Given the description of an element on the screen output the (x, y) to click on. 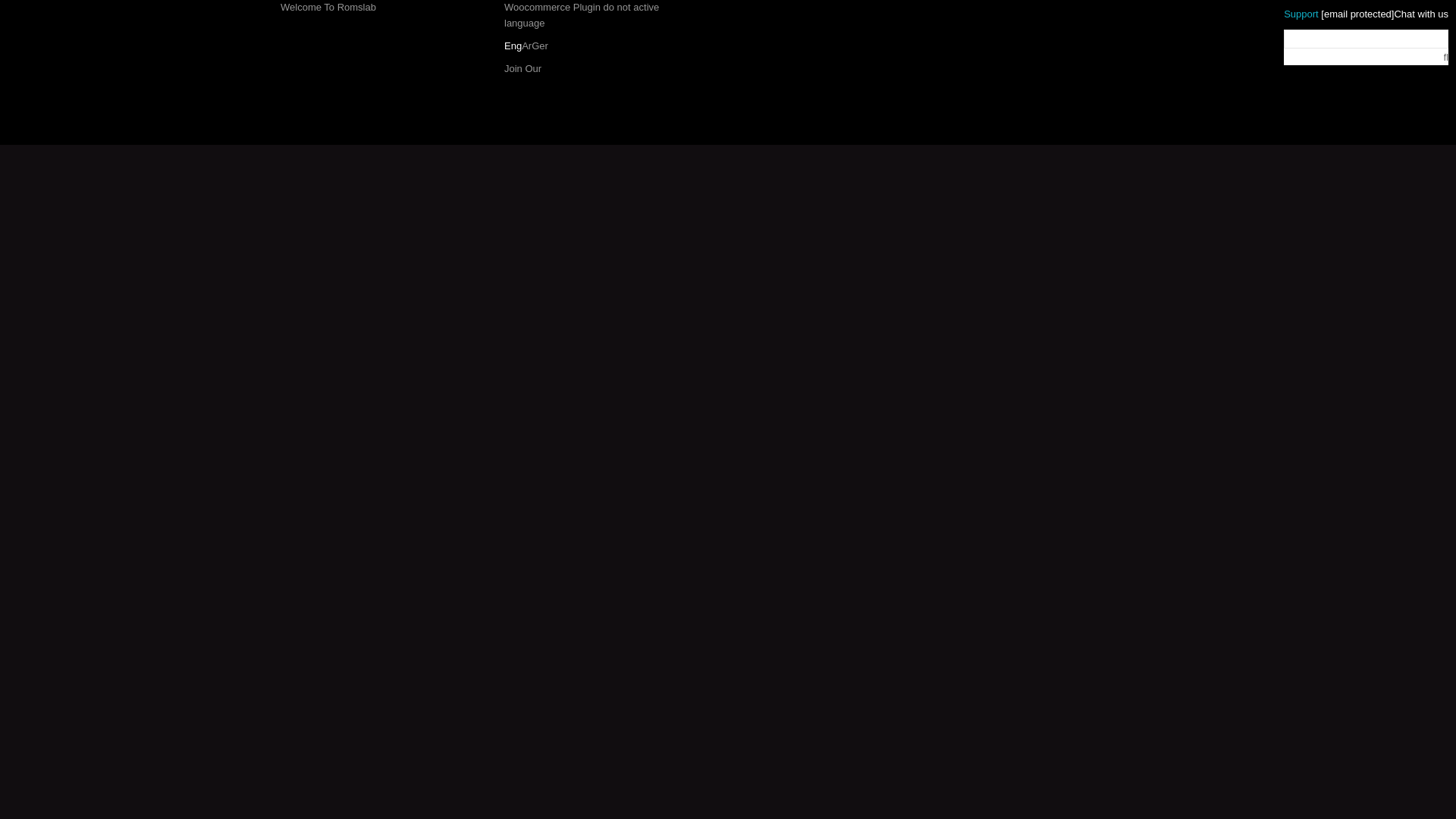
Eng (512, 45)
Ger (539, 45)
Chat with us (1420, 13)
RomsLab (413, 162)
